Given the description of an element on the screen output the (x, y) to click on. 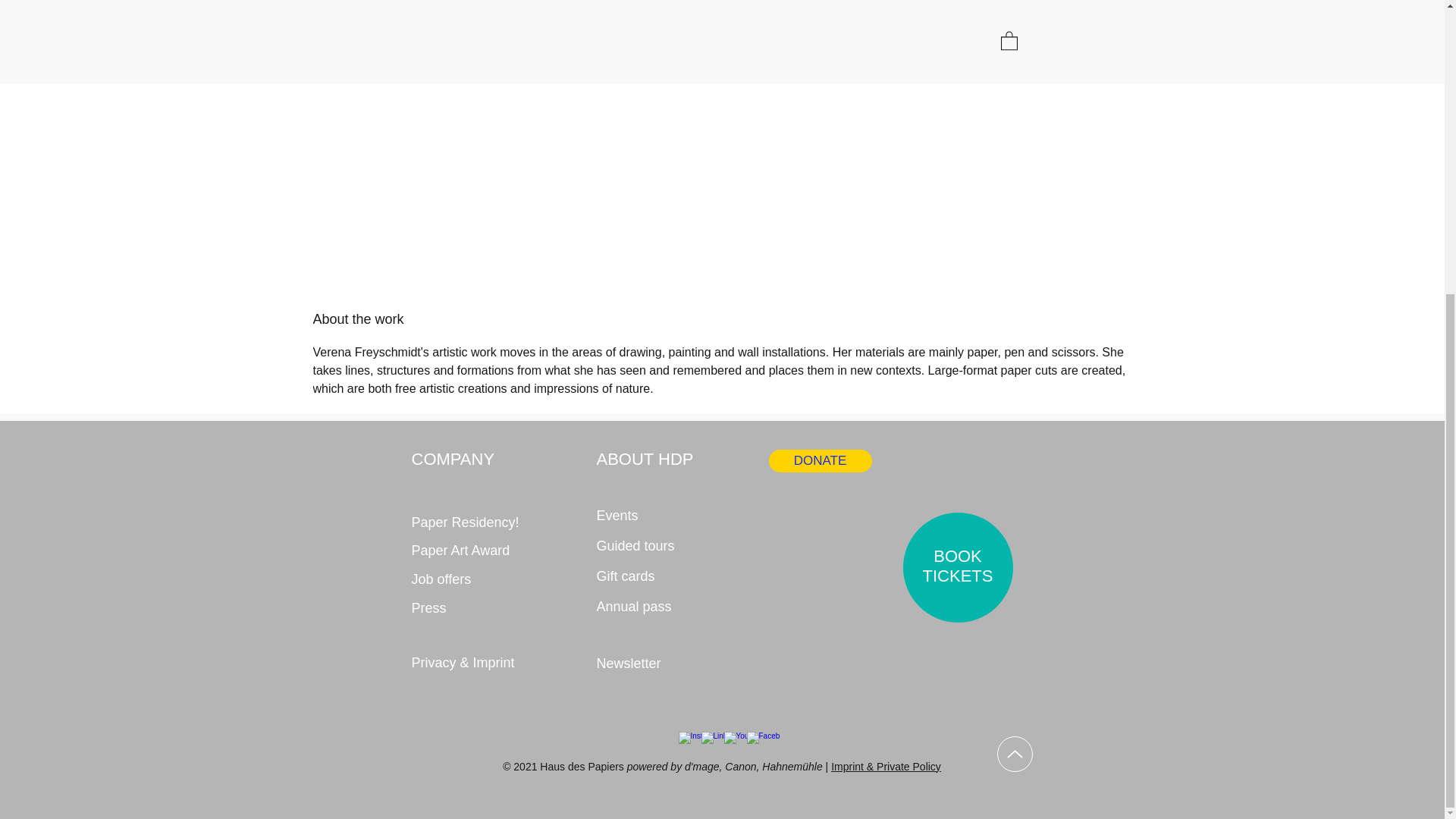
Press (465, 608)
Gift cards (641, 576)
Paper Residency! (465, 521)
Paper Art Award (465, 551)
Newsletter (666, 664)
Guided tours (644, 545)
DONATE (820, 459)
Job offers (465, 579)
Annual pass (644, 606)
BOOK TICKETS (957, 565)
